Given the description of an element on the screen output the (x, y) to click on. 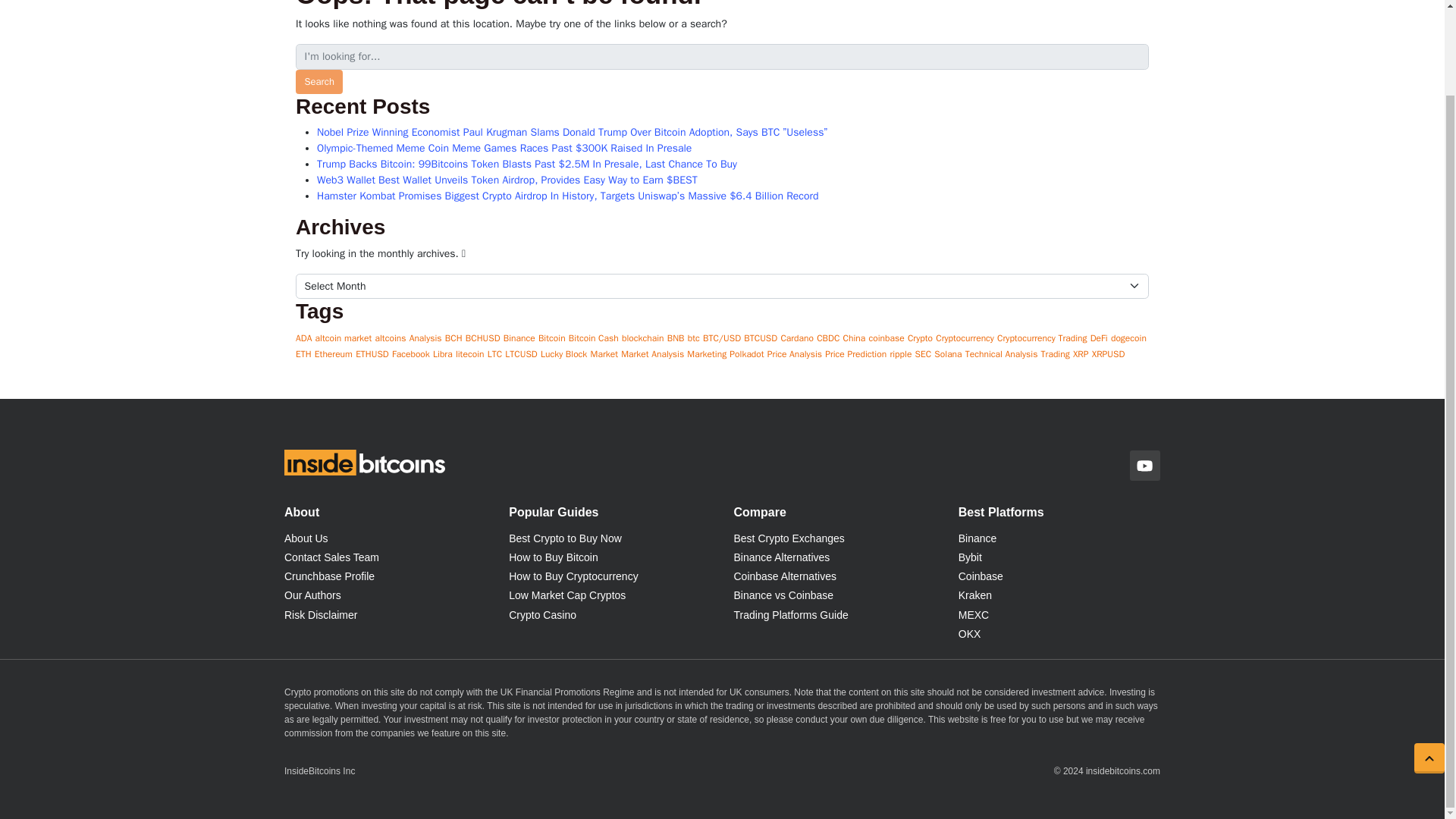
Search (318, 81)
